Given the description of an element on the screen output the (x, y) to click on. 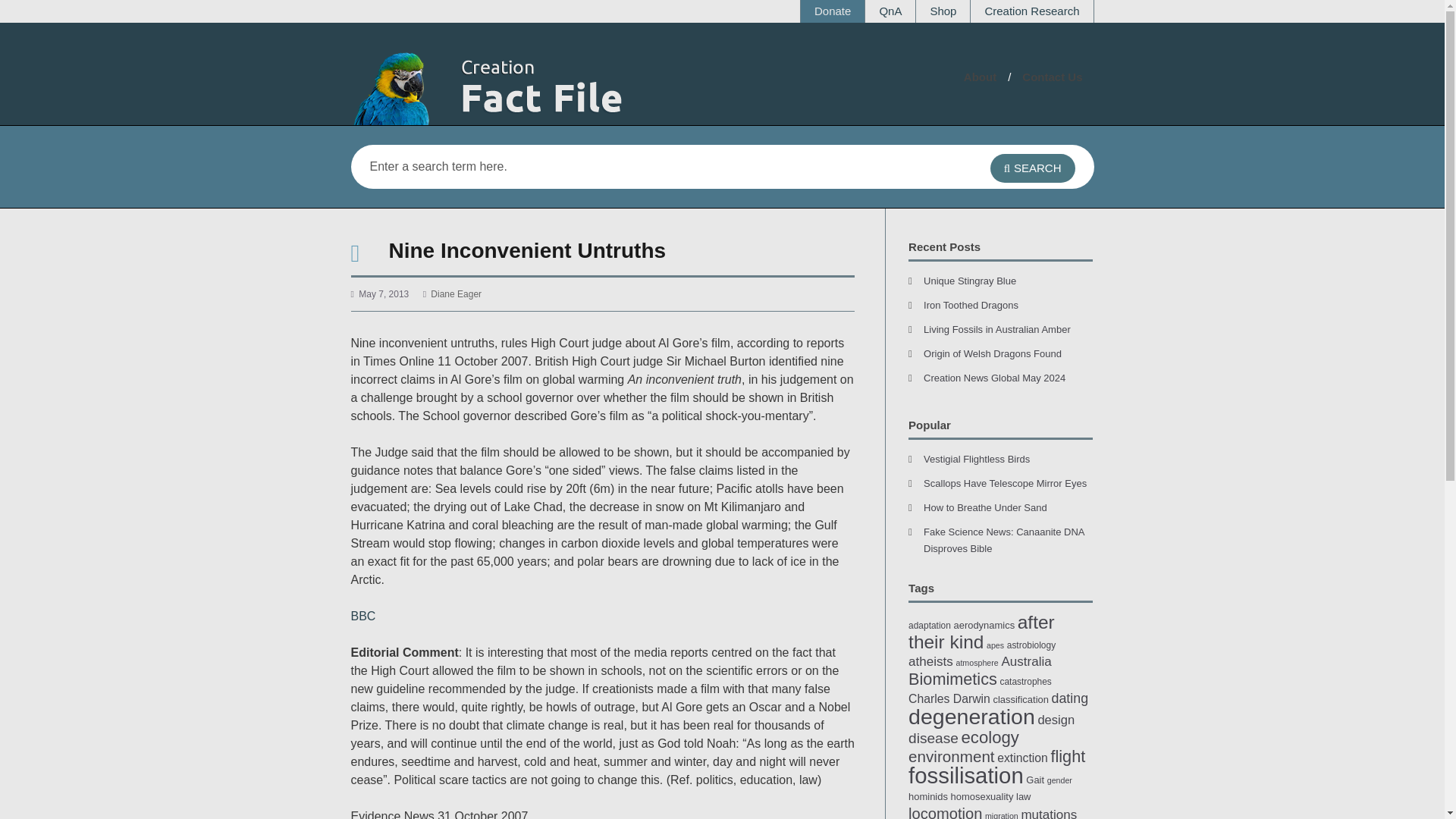
Origin of Welsh Dragons Found (992, 353)
Contact Us (1051, 76)
Posts by Diane Eager (455, 294)
Creation Fact File (525, 87)
classification (1020, 699)
QnA (889, 11)
Living Fossils in Australian Amber (996, 328)
apes (995, 645)
Enter a search term here. (647, 166)
aerodynamics (983, 624)
